Given the description of an element on the screen output the (x, y) to click on. 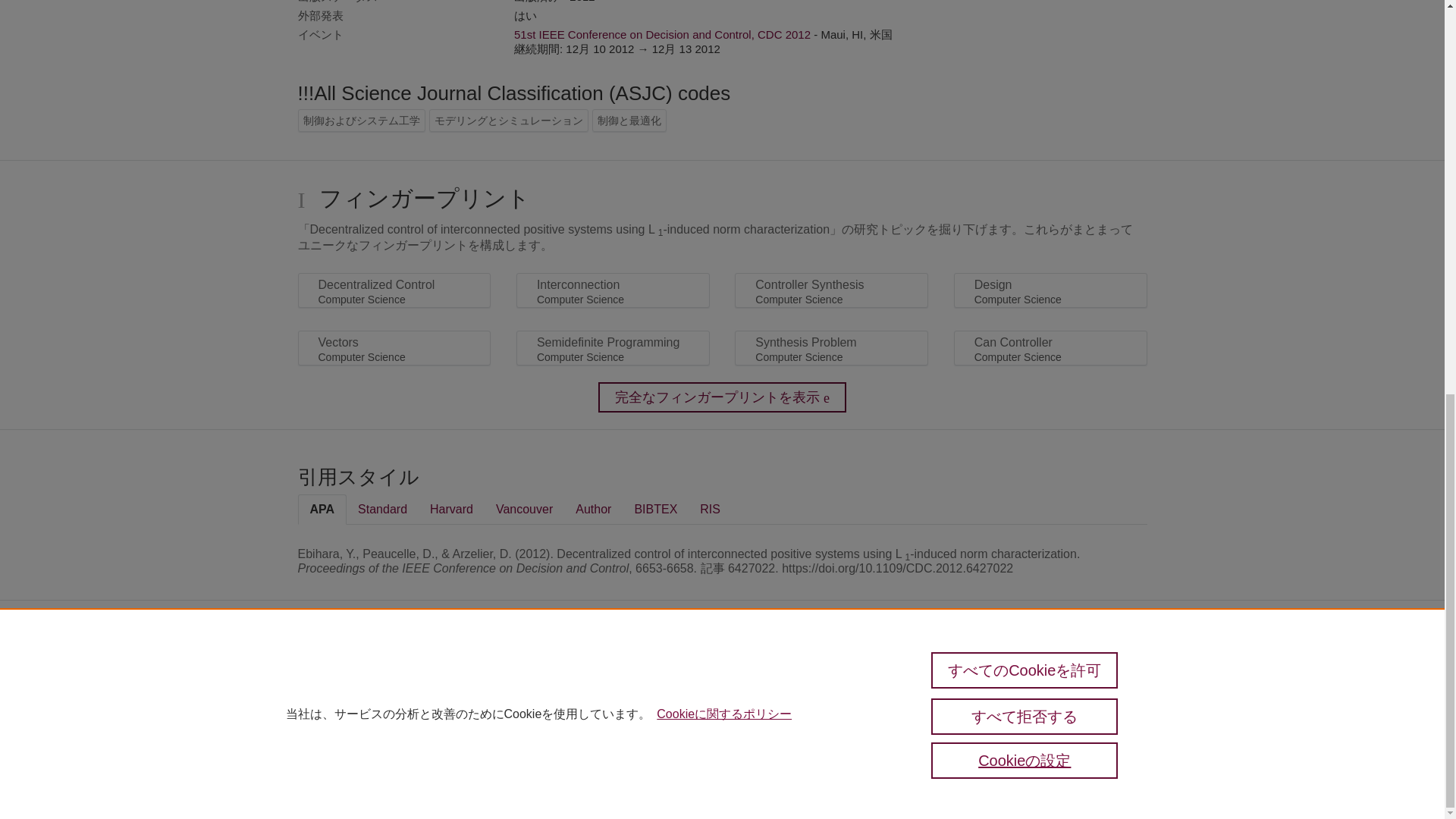
Scopus (362, 676)
51st IEEE Conference on Decision and Control, CDC 2012 (661, 33)
Pure (330, 676)
